Given the description of an element on the screen output the (x, y) to click on. 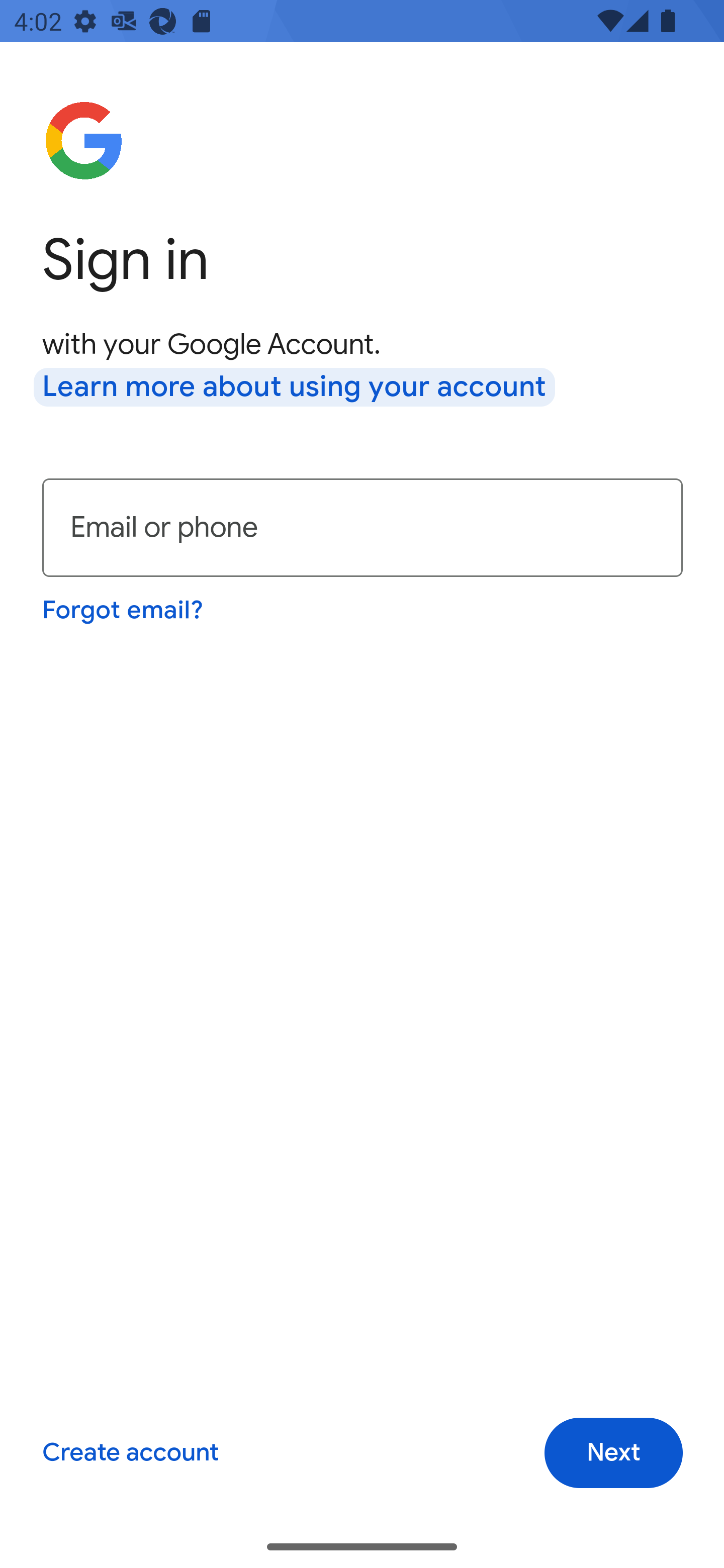
Learn more about using your account (294, 388)
Forgot email? (123, 609)
Next (613, 1453)
Create account (129, 1453)
